Given the description of an element on the screen output the (x, y) to click on. 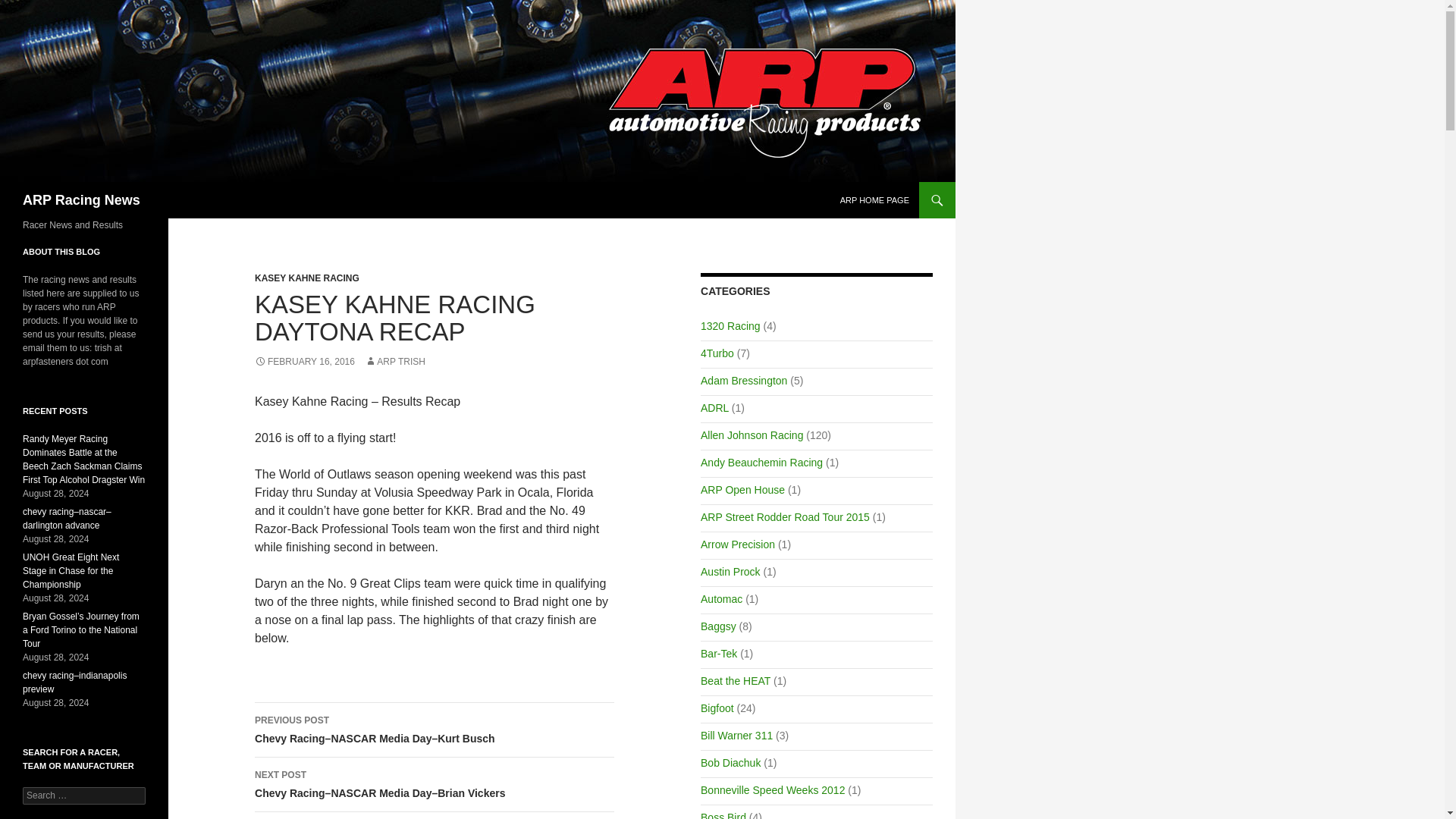
ARP Racing News (81, 199)
ARP Street Rodder Road Tour 2015 (784, 517)
Bigfoot (716, 707)
Austin Prock (730, 571)
Andy Beauchemin Racing (761, 462)
ADRL (714, 408)
Automac (721, 598)
Bill Warner 311 (736, 735)
